Given the description of an element on the screen output the (x, y) to click on. 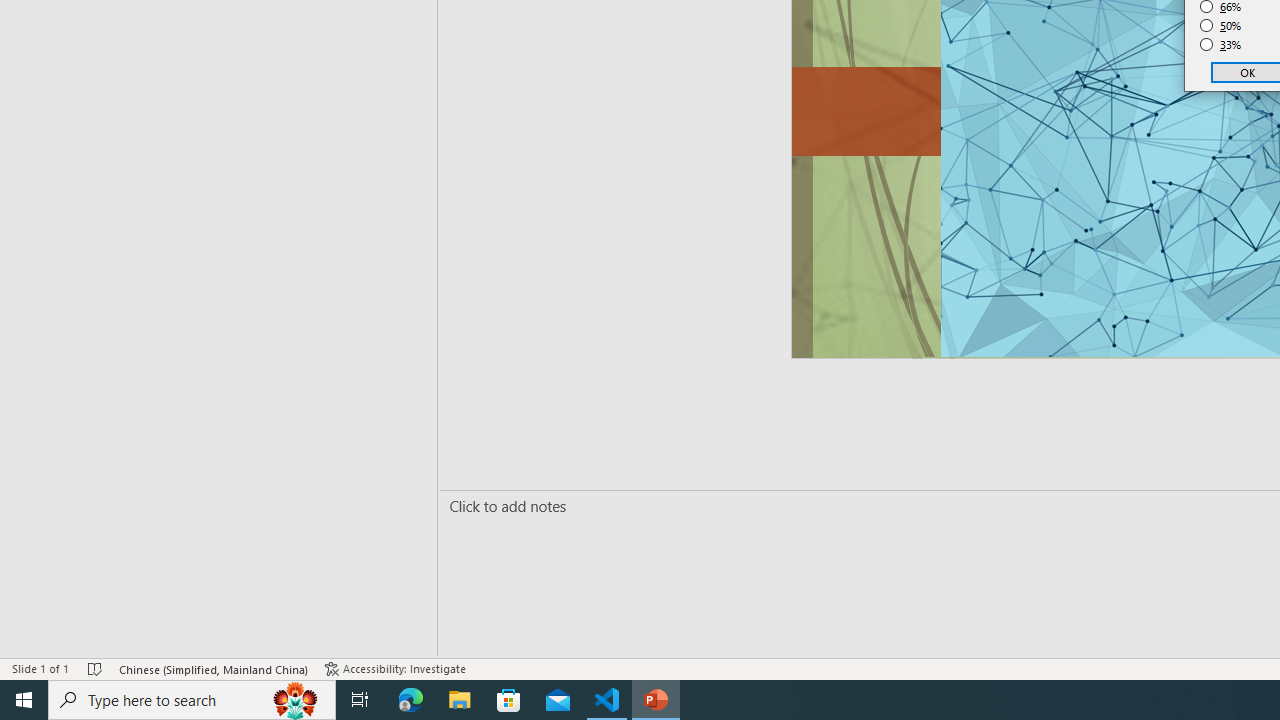
50% (1221, 25)
33% (1221, 44)
Microsoft Edge (411, 699)
